Given the description of an element on the screen output the (x, y) to click on. 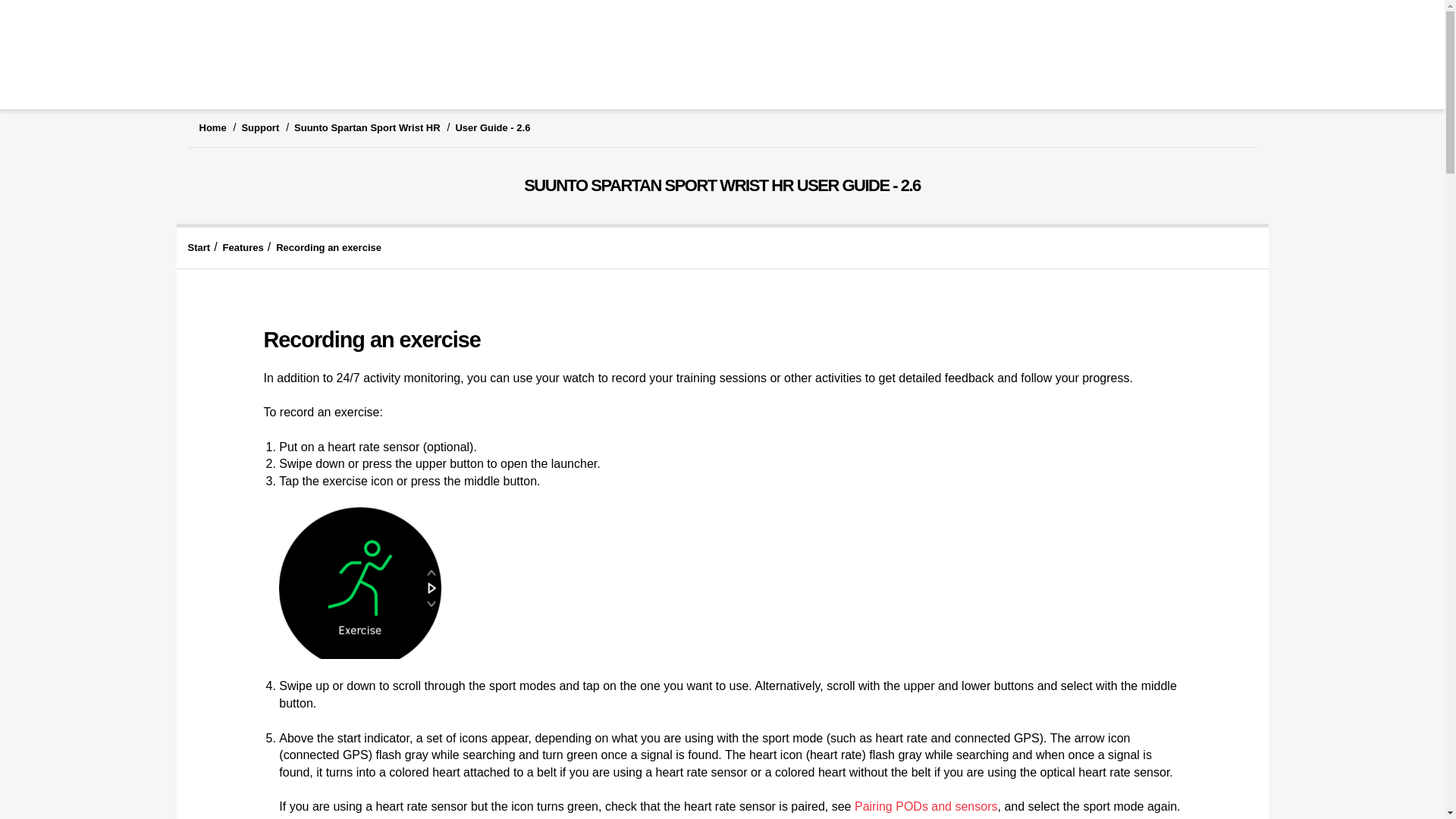
Suunto Spartan Sport Wrist HR (367, 127)
Start (199, 247)
Pairing PODs and sensors (925, 806)
User Guide - 2.6 (491, 127)
Home (211, 127)
Features (242, 247)
Support (260, 127)
Recording an exercise (328, 247)
